Given the description of an element on the screen output the (x, y) to click on. 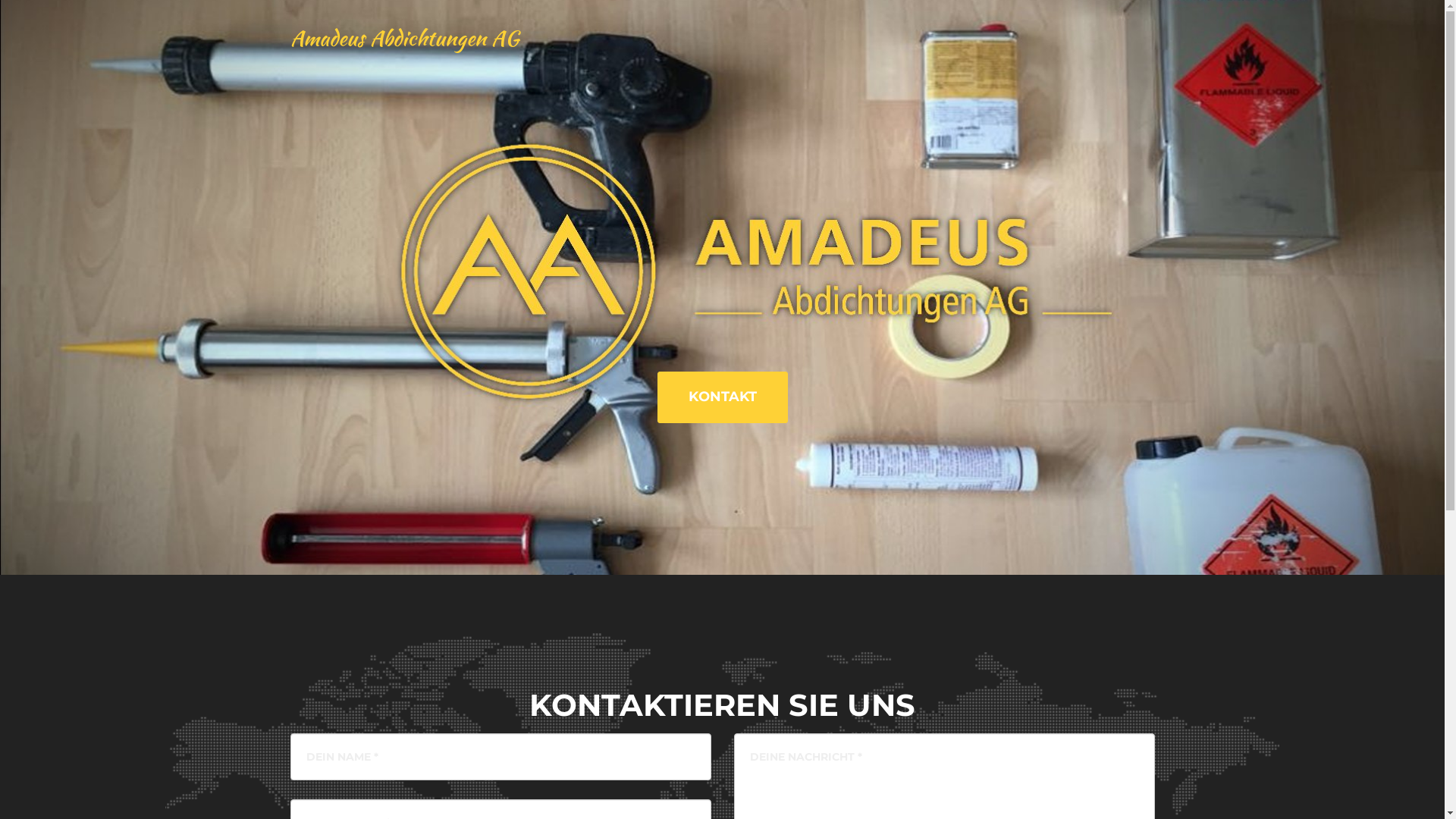
Amadeus Abdichtungen AG Element type: text (404, 37)
KONTAKT Element type: text (721, 397)
